Given the description of an element on the screen output the (x, y) to click on. 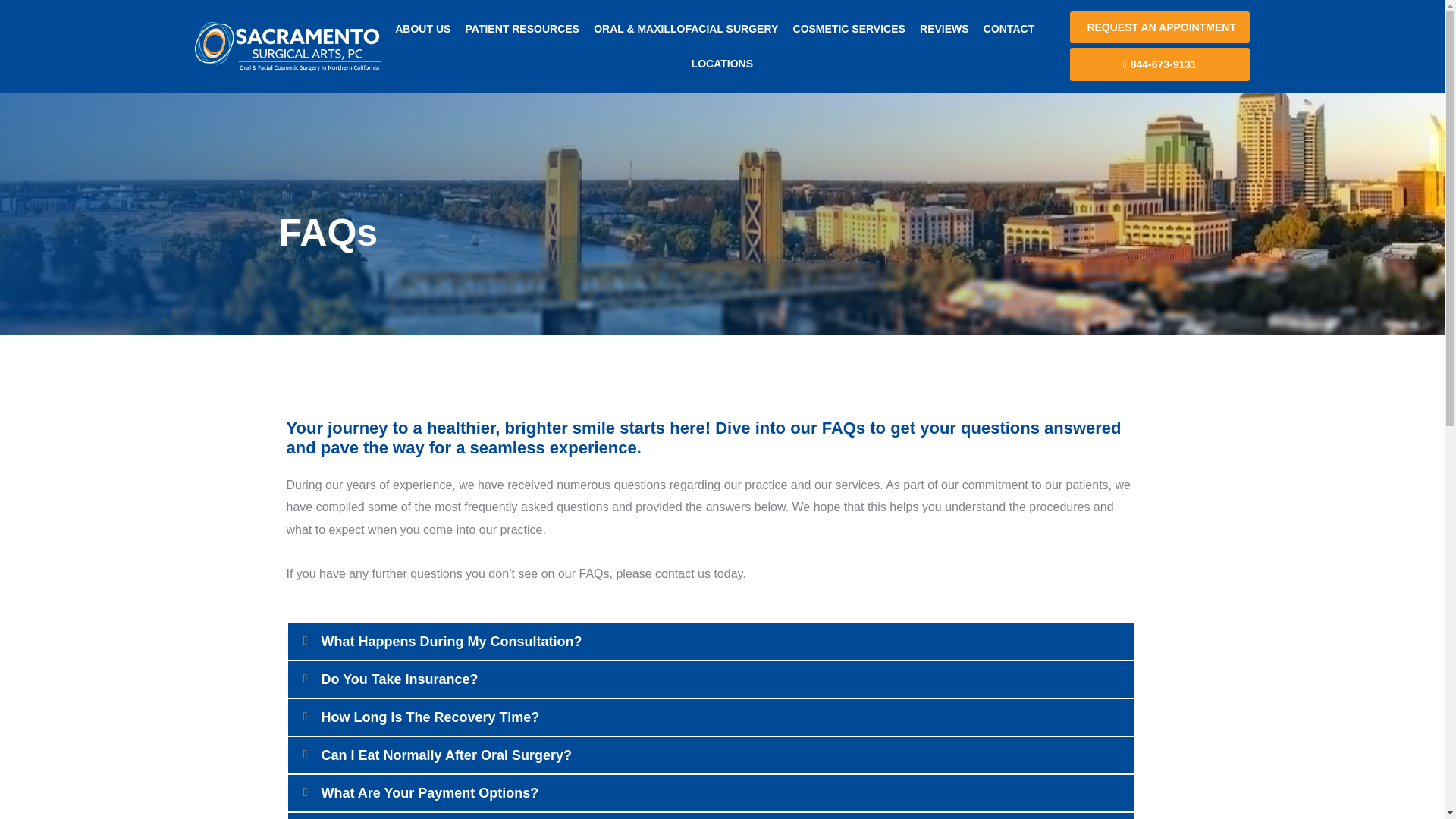
PATIENT RESOURCES (522, 28)
COSMETIC SERVICES (849, 28)
ABOUT US (421, 28)
